Given the description of an element on the screen output the (x, y) to click on. 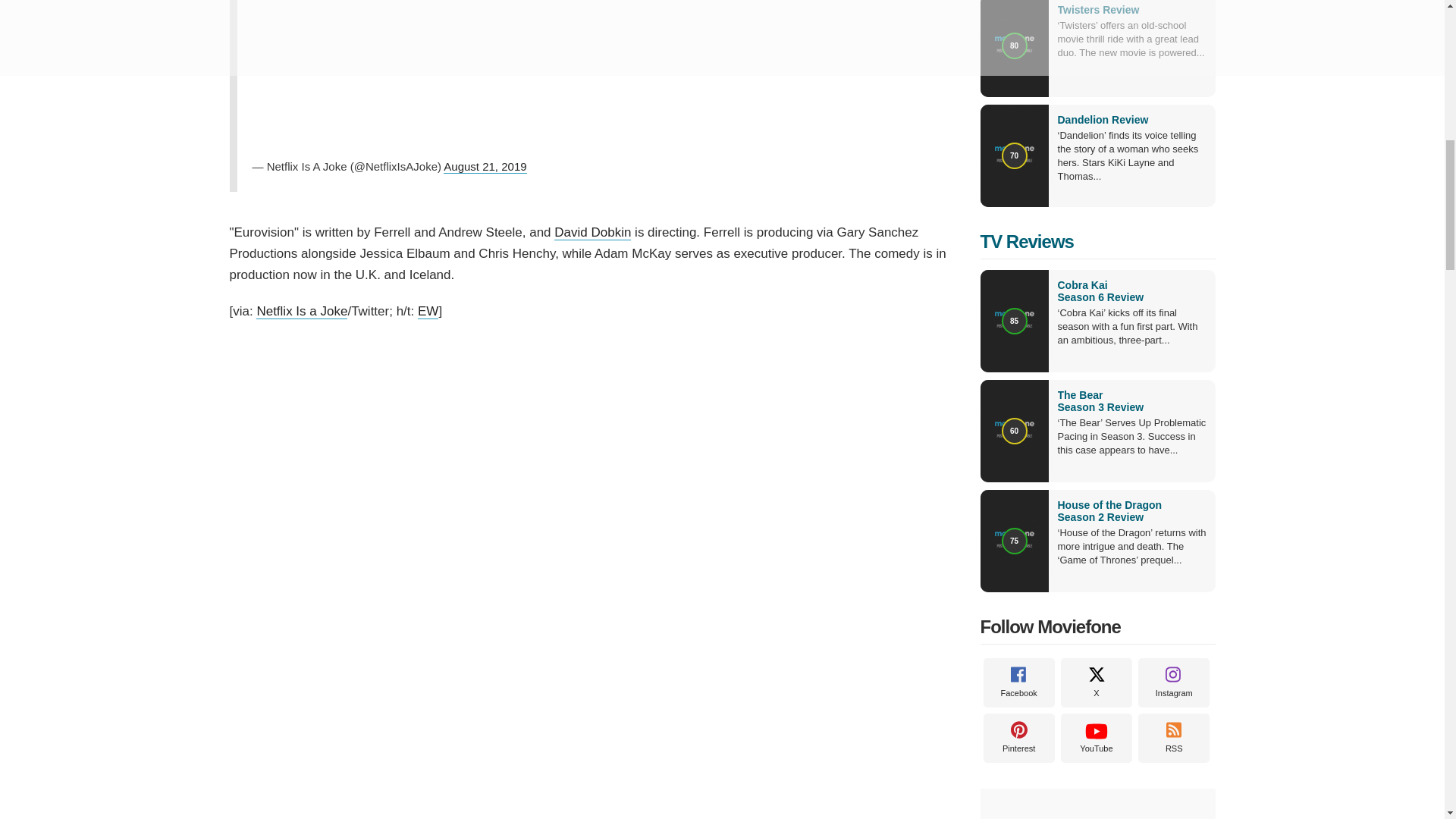
Twisters movie (1097, 9)
Cobra Kai movie (1132, 291)
The Bear movie (1132, 401)
Follow Moviefone on Facebook (1018, 682)
Follow Moviefone on Instagram (1173, 682)
House of the Dragon movie (1132, 510)
Link to us (1173, 737)
Dandelion movie (1102, 119)
Follow Moviefone on X (1096, 682)
Subscribe to Moviefone on YouTube (1096, 737)
Follow Moviefone on Pinterest (1018, 737)
